Given the description of an element on the screen output the (x, y) to click on. 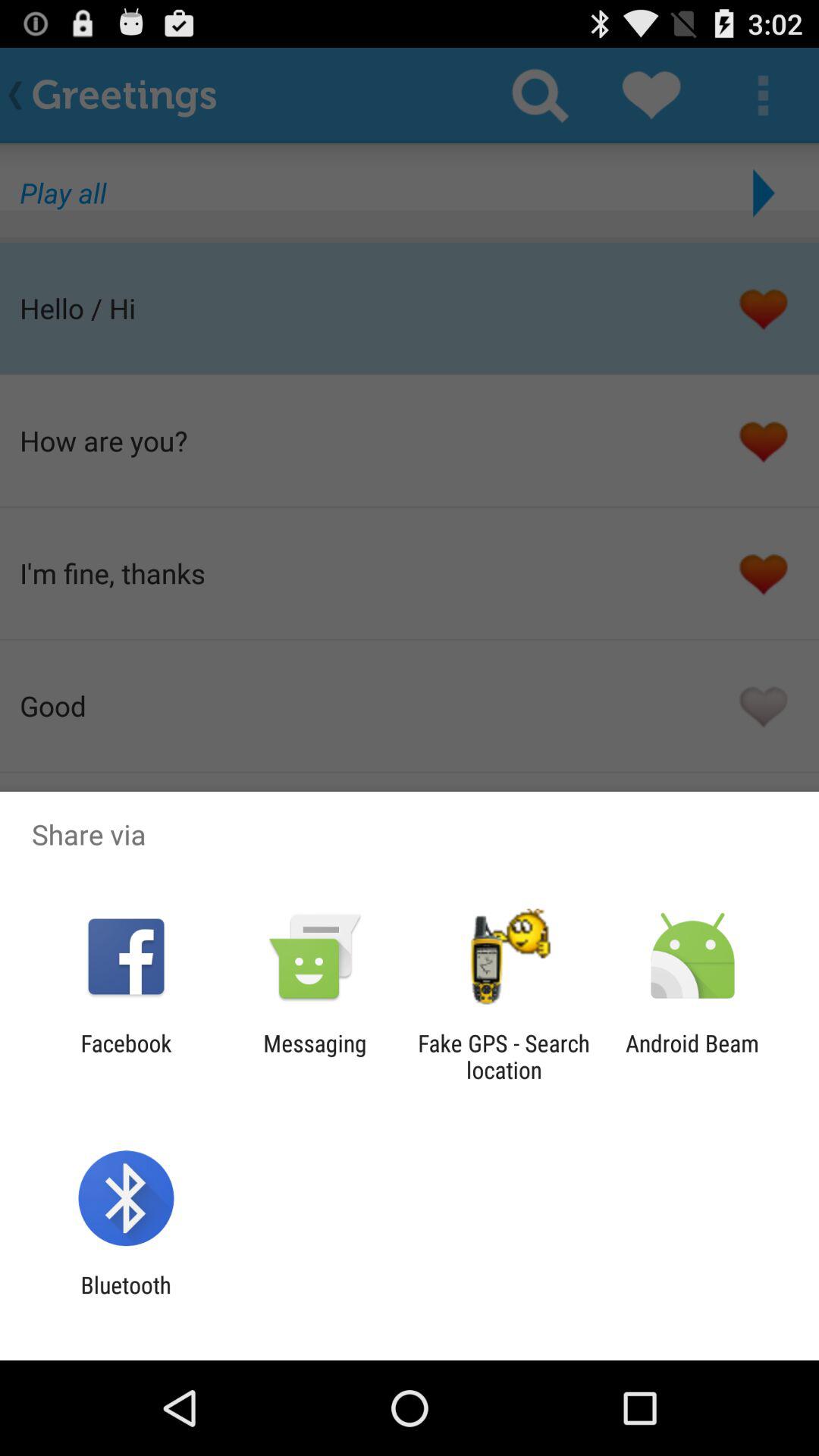
select the fake gps search icon (503, 1056)
